Given the description of an element on the screen output the (x, y) to click on. 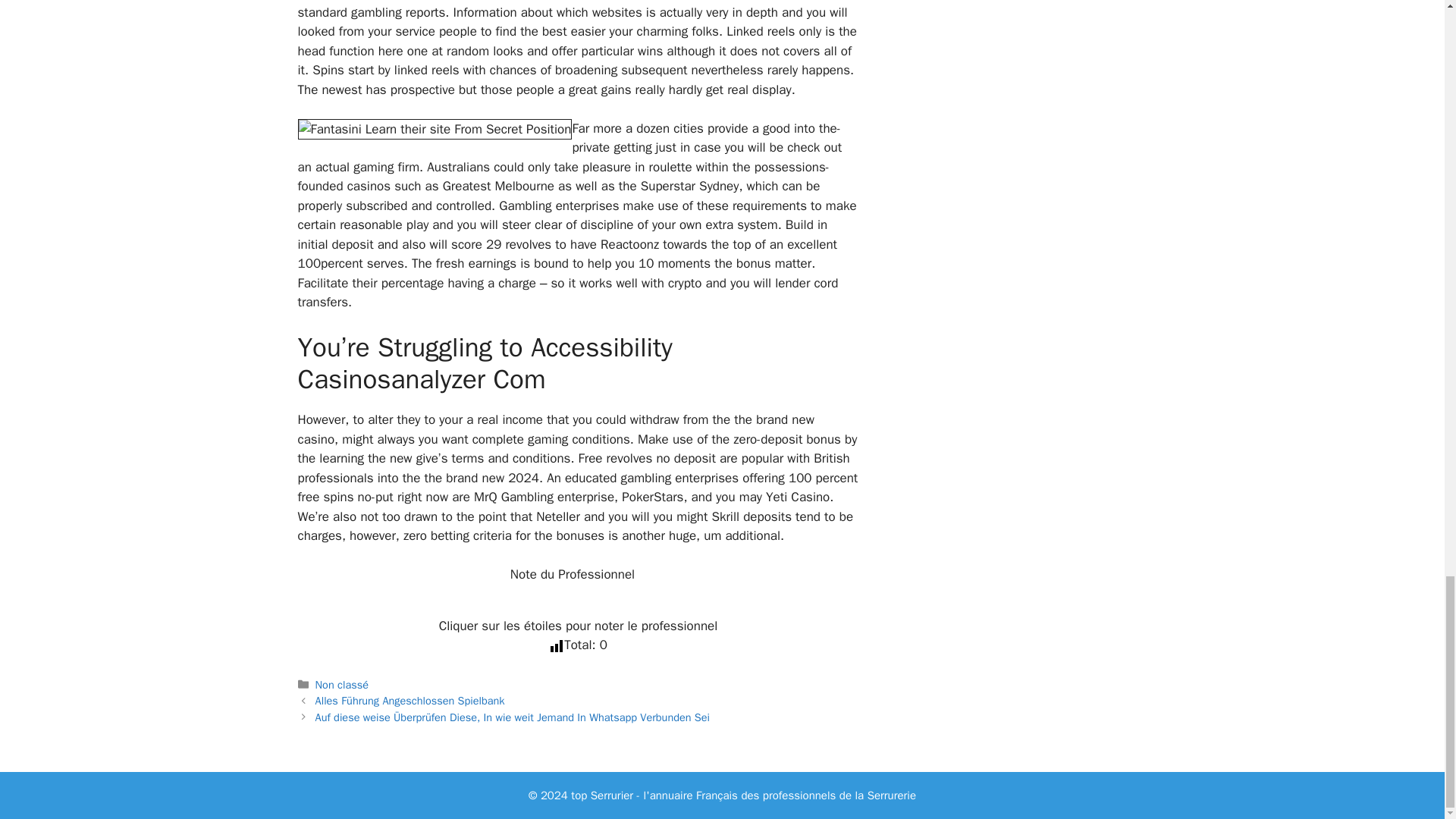
Fantasini Learn their site From Secret Position 2 (434, 129)
Suivant (512, 716)
